Given the description of an element on the screen output the (x, y) to click on. 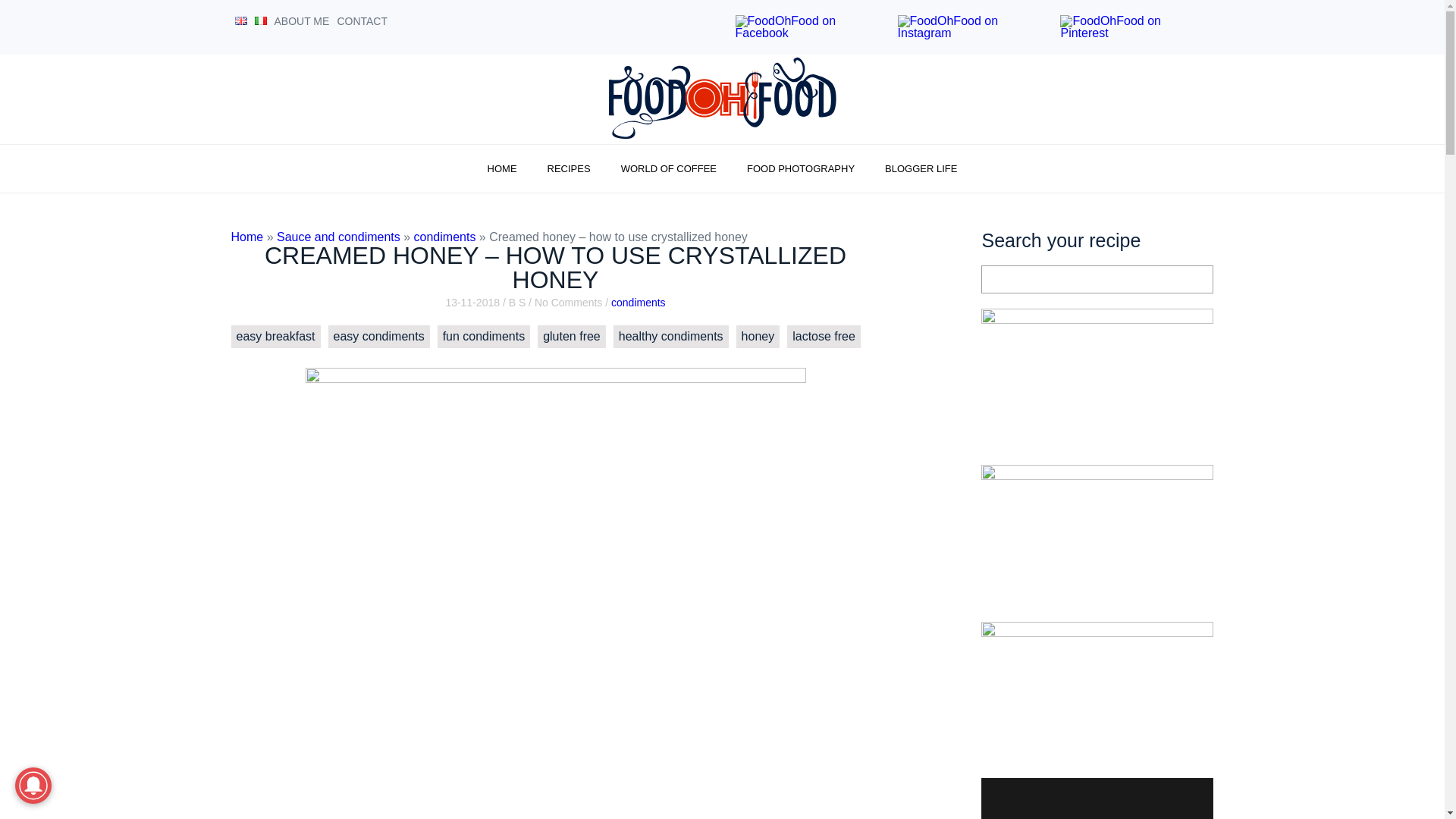
HOME (501, 168)
RECIPES (568, 168)
ABOUT ME (302, 21)
CONTACT (361, 21)
